Given the description of an element on the screen output the (x, y) to click on. 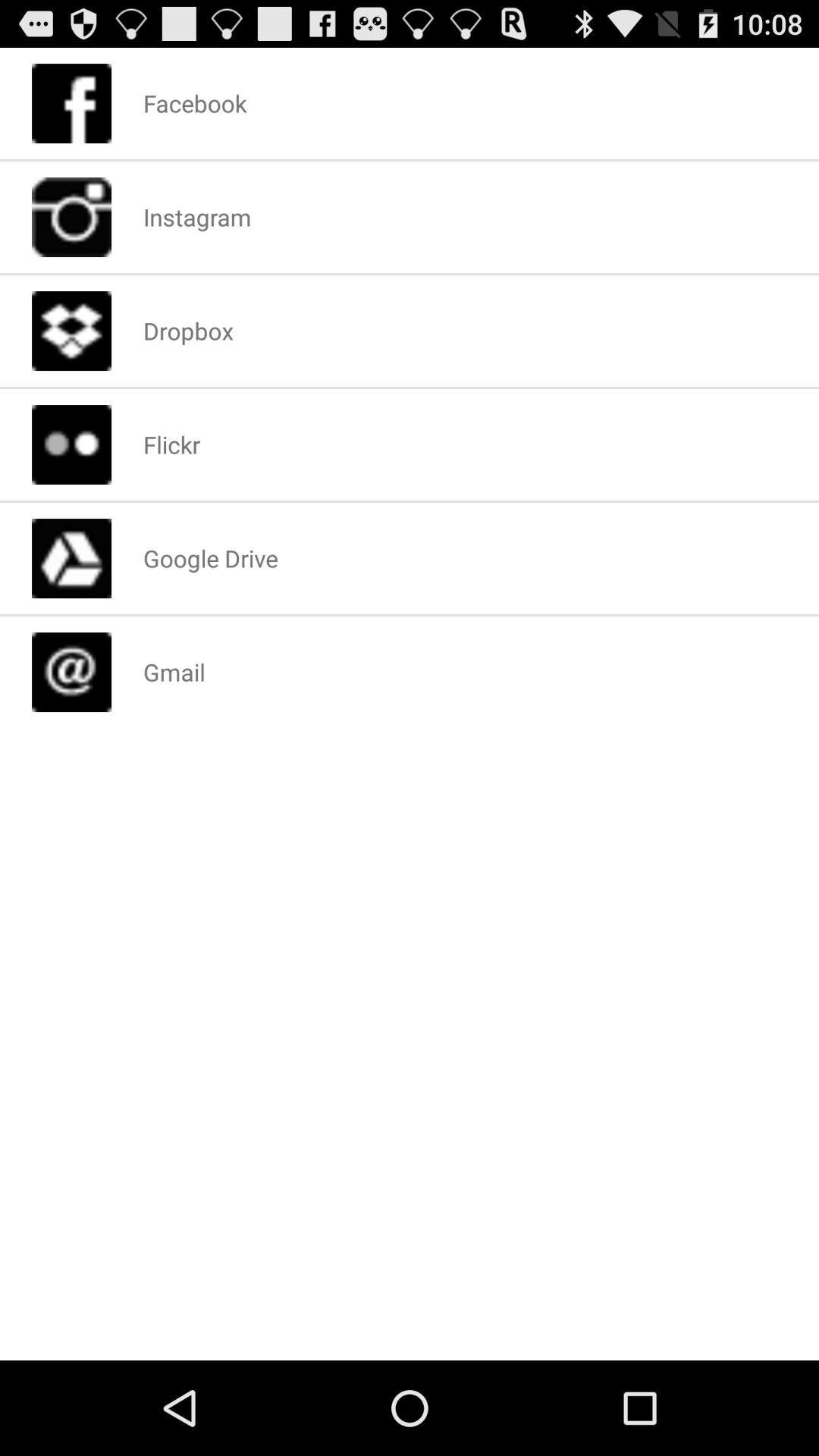
turn off item above dropbox app (197, 216)
